Given the description of an element on the screen output the (x, y) to click on. 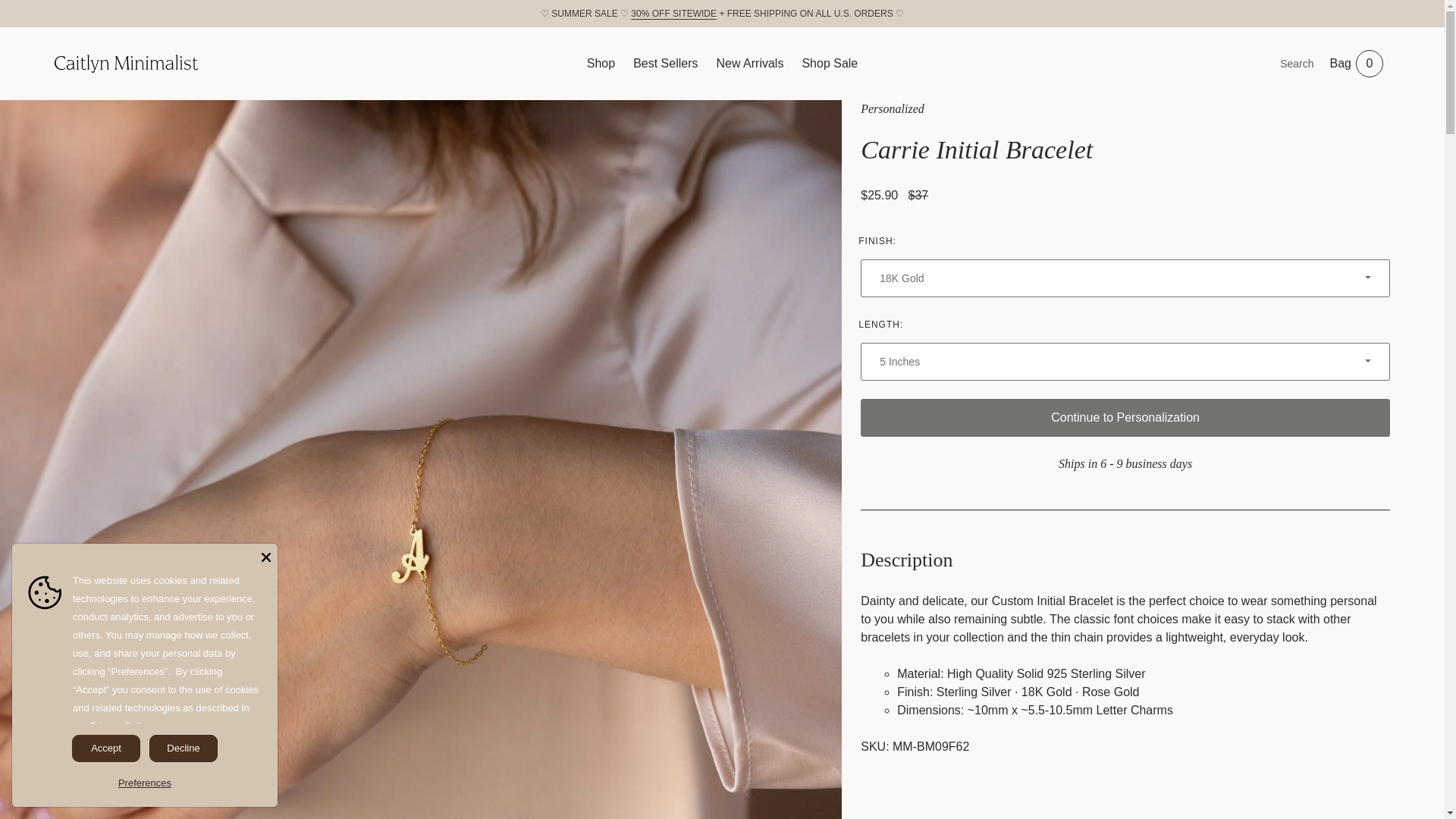
Best Sellers (1356, 63)
New Arrivals (665, 63)
Privacy Policy. (749, 63)
Shop Sale (120, 726)
Search (829, 63)
